Given the description of an element on the screen output the (x, y) to click on. 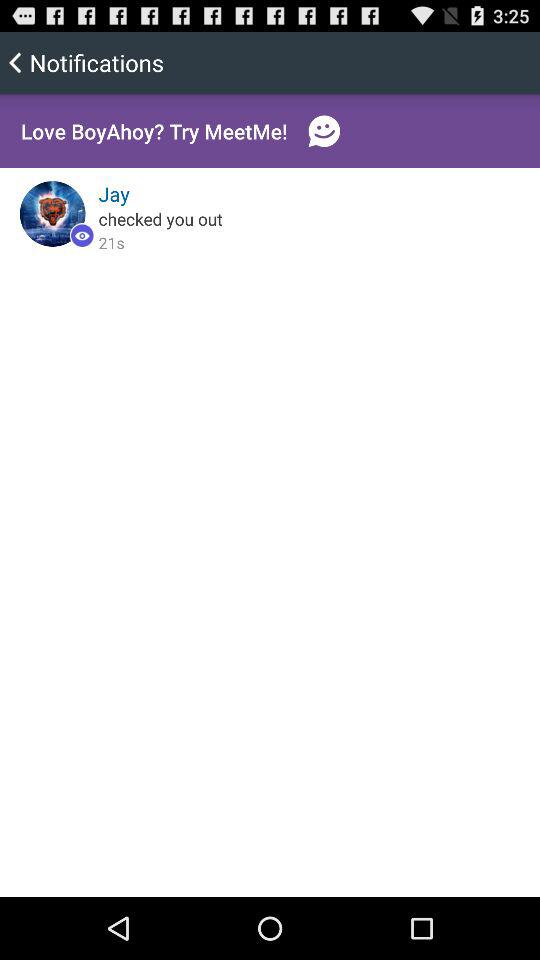
select the item below the checked you out item (111, 242)
